Given the description of an element on the screen output the (x, y) to click on. 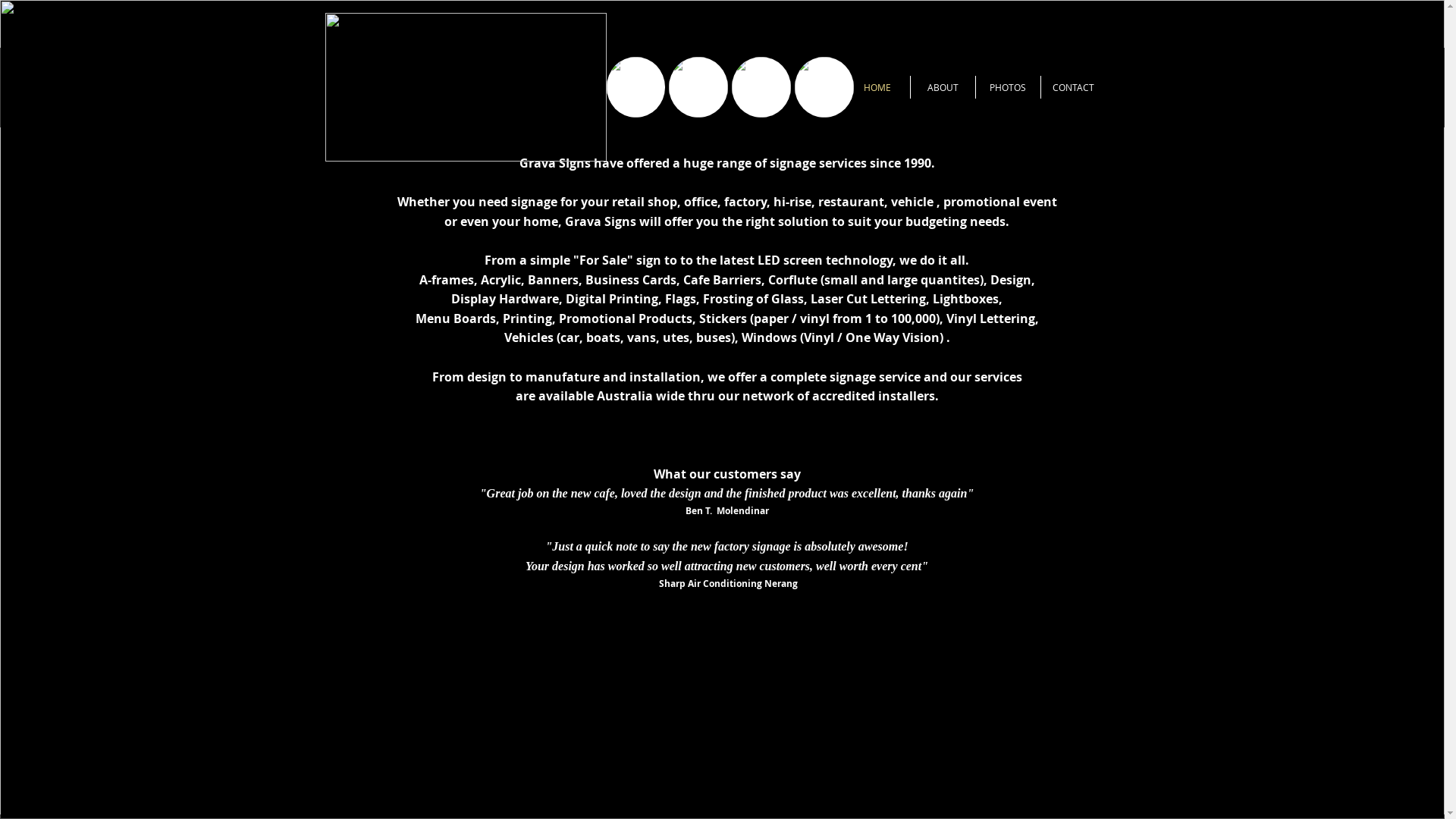
ABOUT Element type: text (942, 86)
PHOTOS Element type: text (1007, 86)
CONTACT Element type: text (1072, 86)
HOME Element type: text (877, 86)
